Given the description of an element on the screen output the (x, y) to click on. 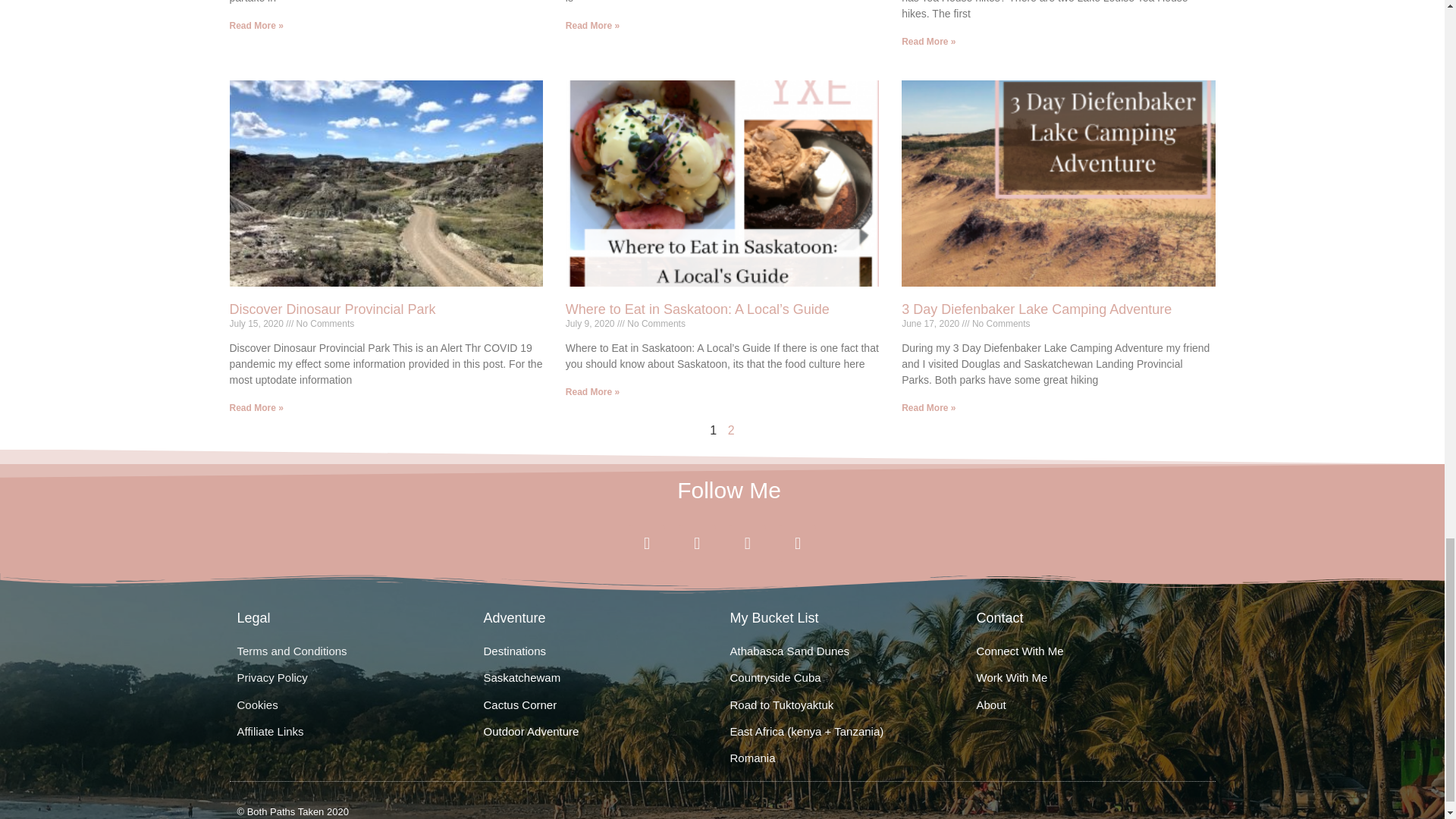
Discover Dinosaur Provincial Park (331, 309)
3 Day Diefenbaker Lake Camping Adventure (1036, 309)
